Given the description of an element on the screen output the (x, y) to click on. 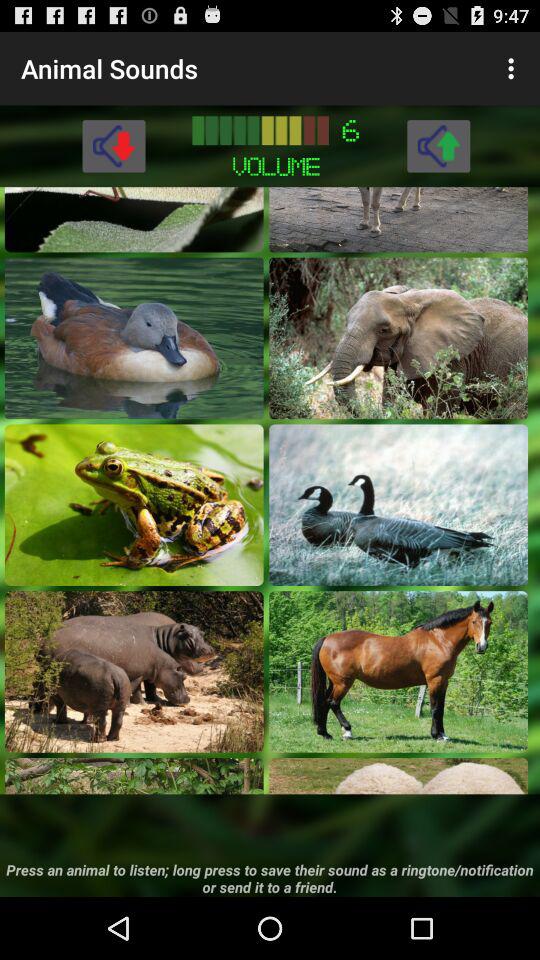
volume down (113, 145)
